Given the description of an element on the screen output the (x, y) to click on. 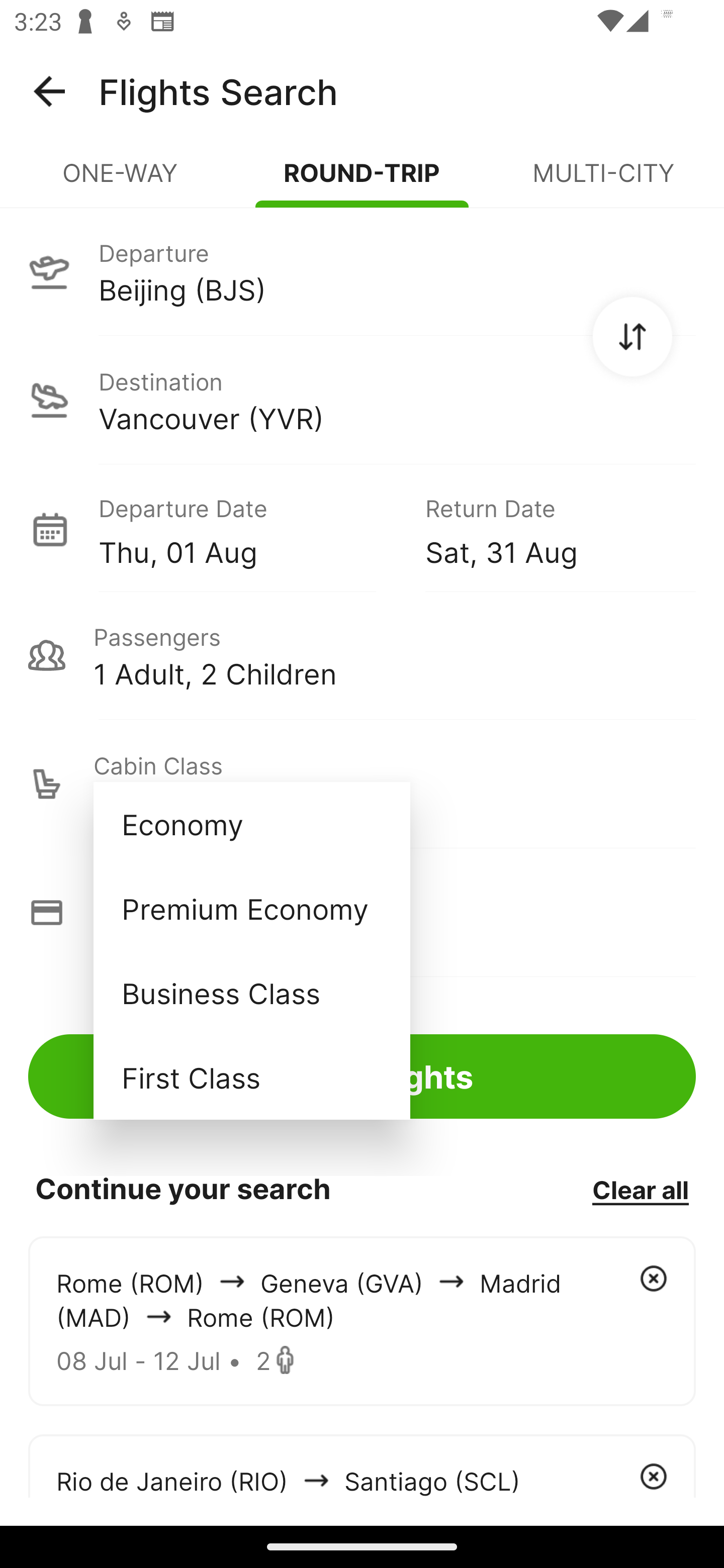
Economy (251, 824)
Premium Economy (251, 908)
Business Class (251, 992)
First Class (251, 1076)
